Given the description of an element on the screen output the (x, y) to click on. 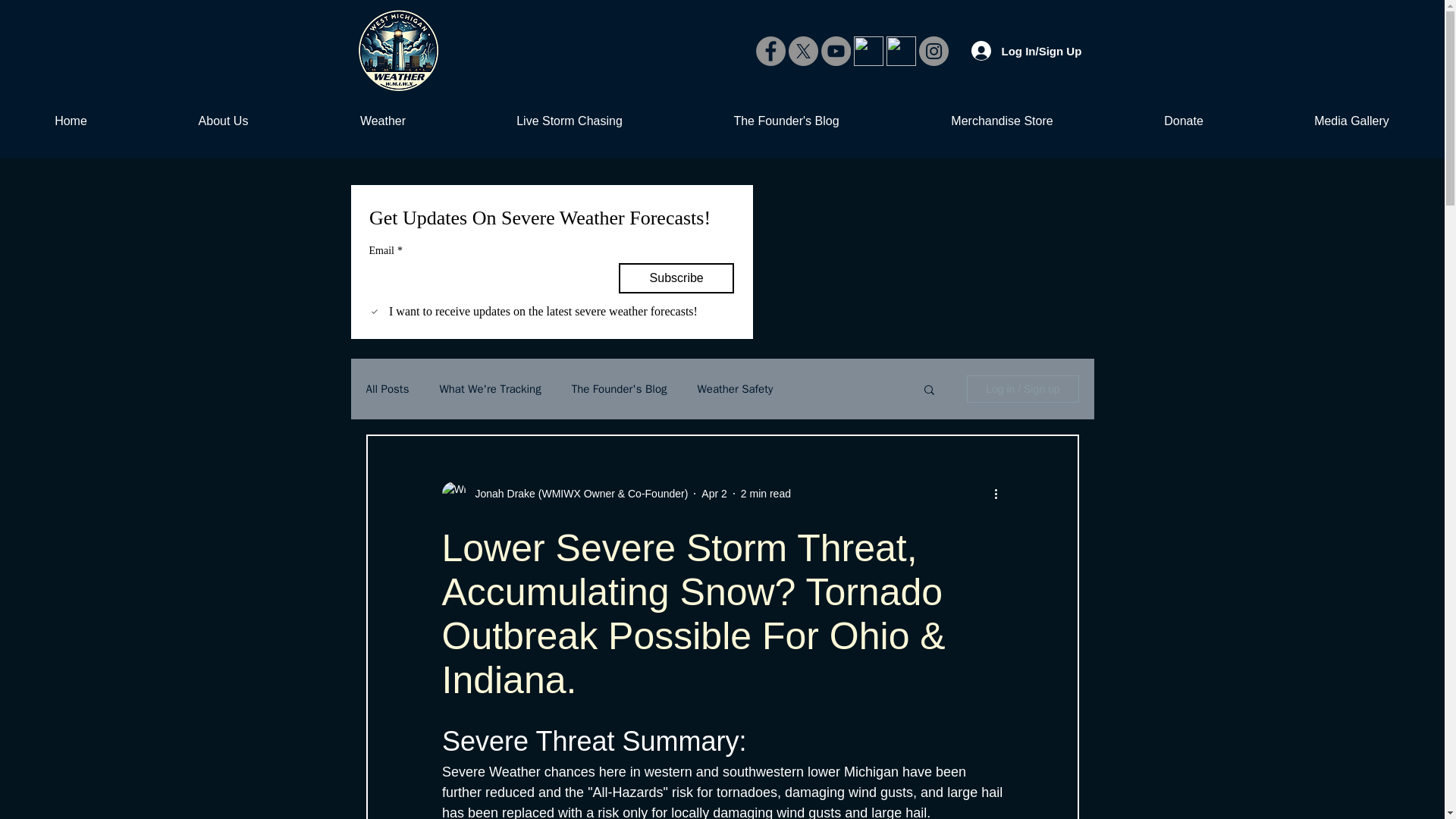
Home (70, 121)
Donate (1182, 121)
The Founder's Blog (786, 121)
About Us (222, 121)
Apr 2 (713, 492)
Live Storm Chasing (569, 121)
2 min read (765, 492)
Merchandise Store (1001, 121)
Weather (382, 121)
